Given the description of an element on the screen output the (x, y) to click on. 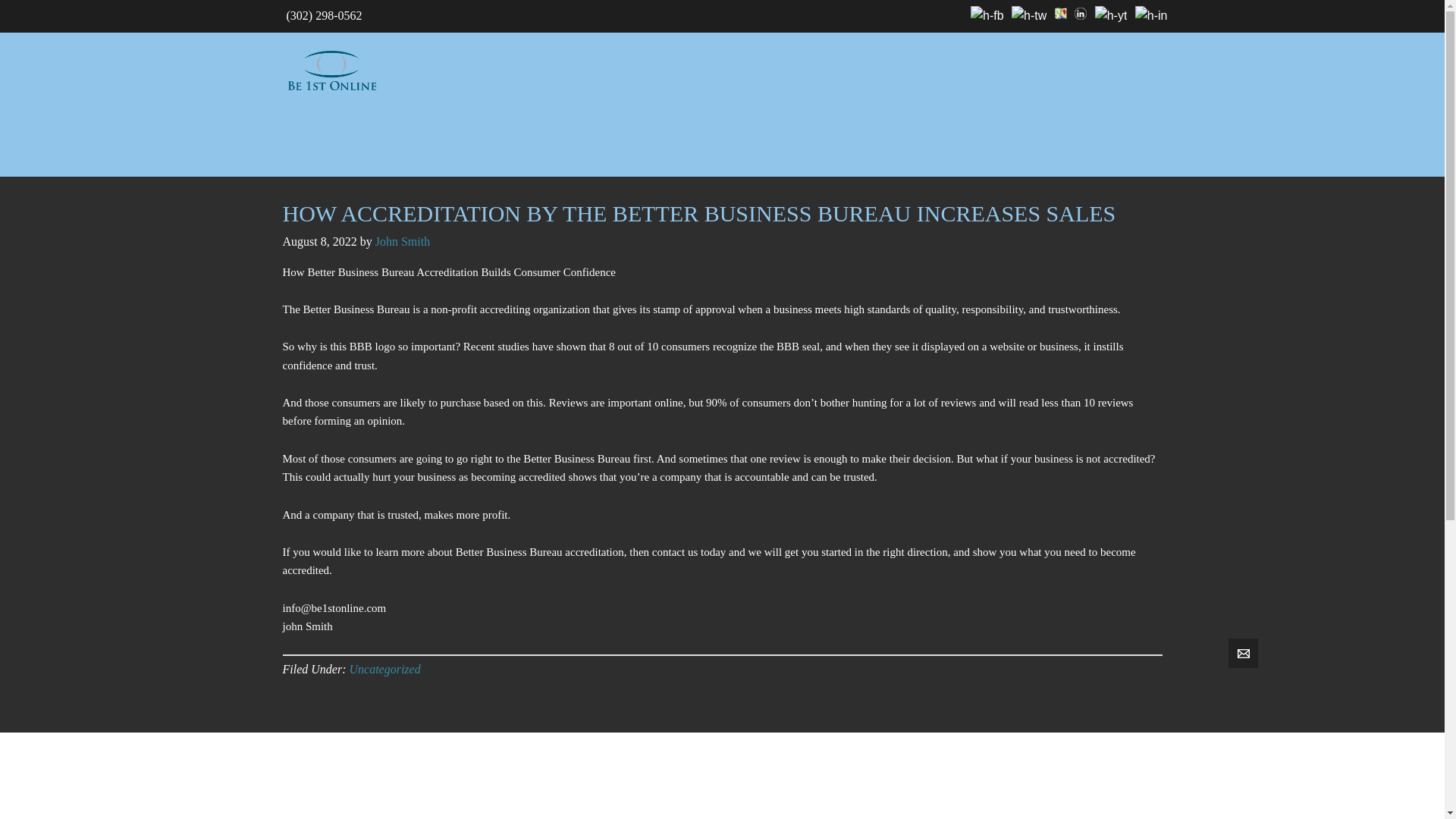
HOME (827, 69)
ABOUT US (884, 69)
CONTACT US (1079, 69)
John Smith (402, 241)
BLOG (1141, 69)
SERVICES WE OFFER (978, 69)
Uncategorized (384, 668)
